Given the description of an element on the screen output the (x, y) to click on. 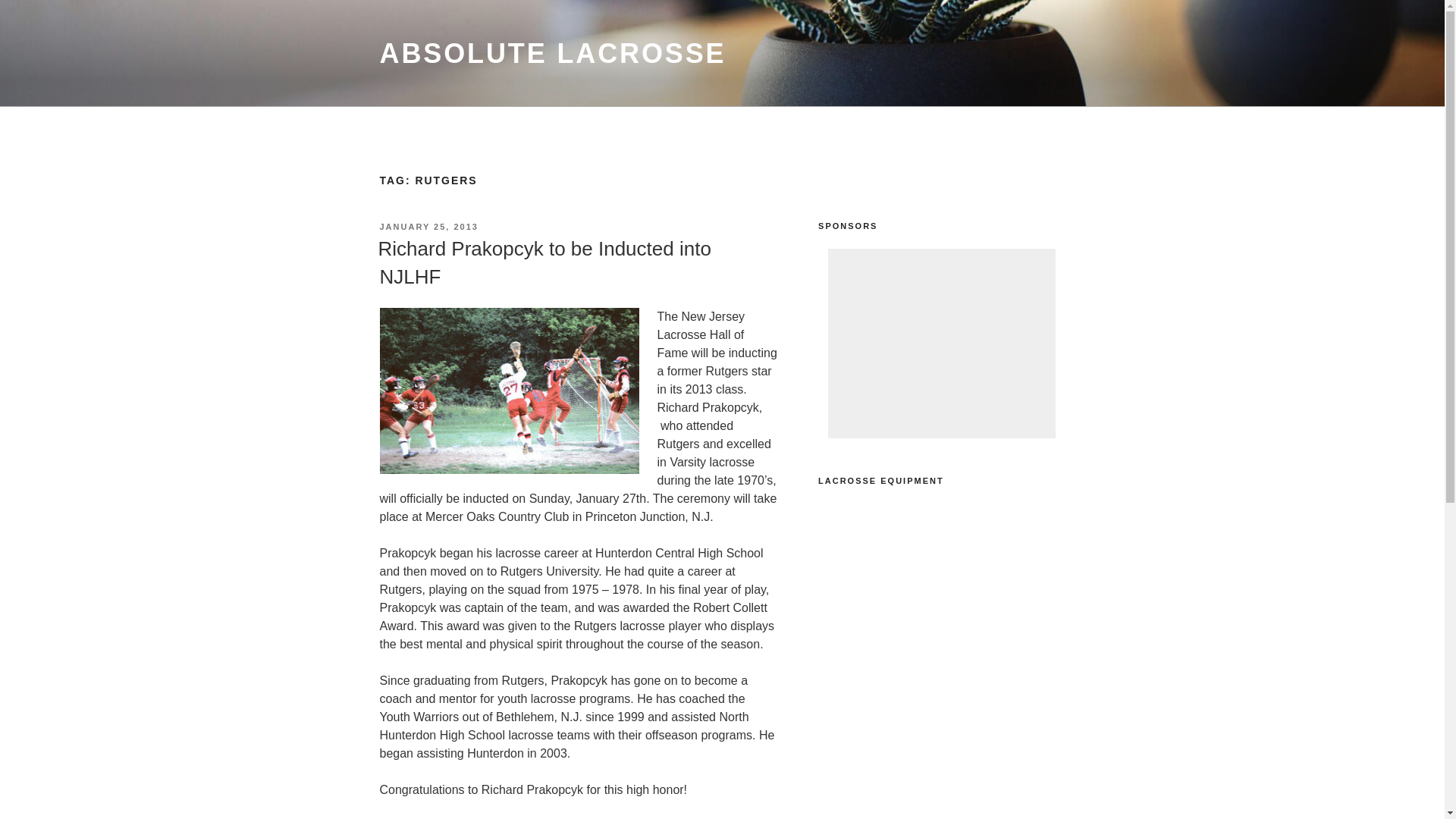
ABSOLUTE LACROSSE (551, 52)
Richard Prakopcyk to be Inducted into NJLHF (543, 262)
Advertisement (941, 343)
JANUARY 25, 2013 (427, 225)
